Given the description of an element on the screen output the (x, y) to click on. 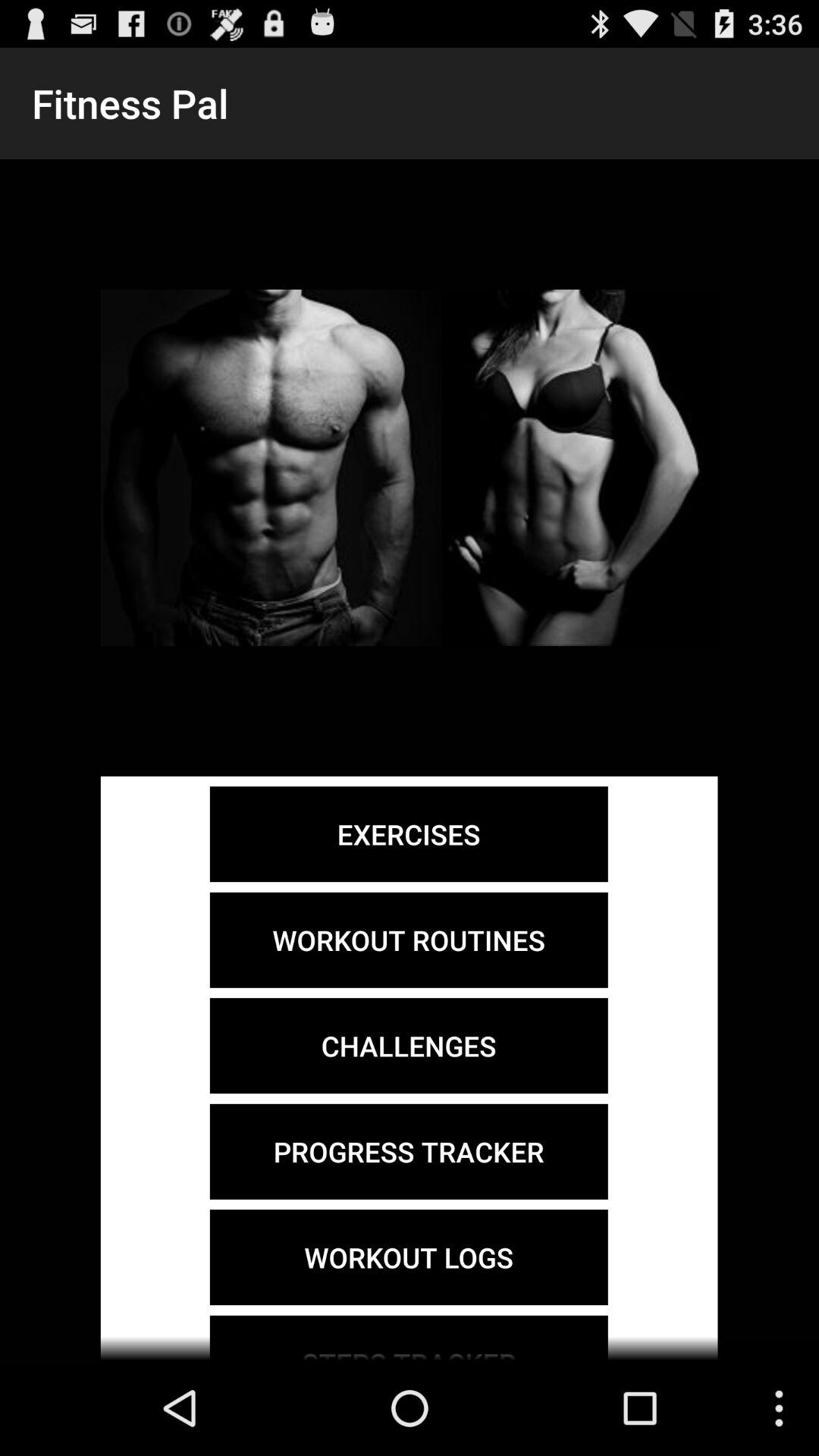
tap the icon below the workout routines item (408, 1045)
